Given the description of an element on the screen output the (x, y) to click on. 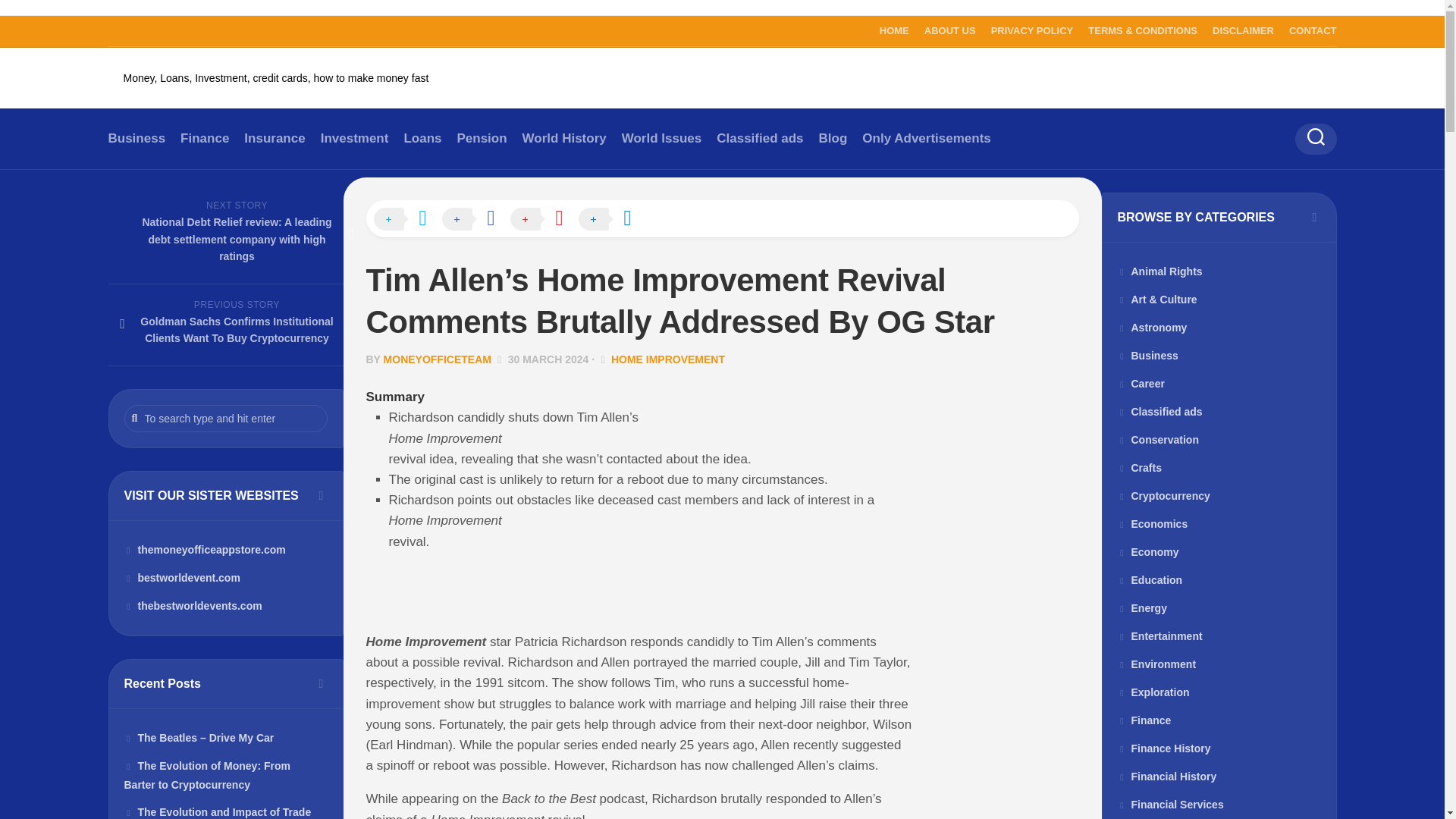
Blog (832, 138)
Share on LinkedIn (612, 219)
Business (136, 138)
Share on X (406, 219)
To search type and hit enter (225, 418)
To search type and hit enter (225, 418)
World Issues (661, 138)
Finance (204, 138)
MONEYOFFICETEAM (438, 358)
Share on Pinterest (543, 219)
